Given the description of an element on the screen output the (x, y) to click on. 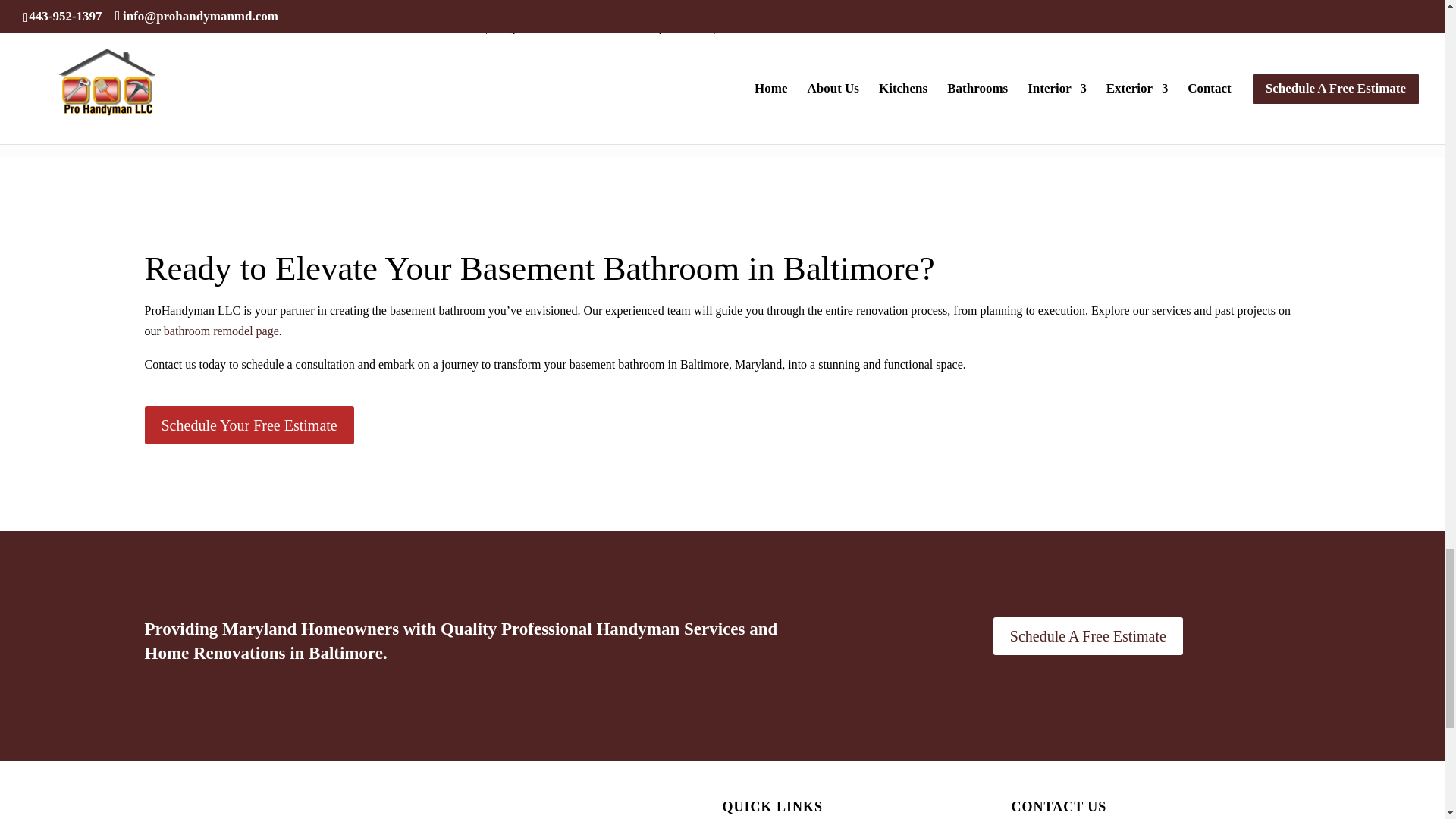
logo (259, 808)
